Given the description of an element on the screen output the (x, y) to click on. 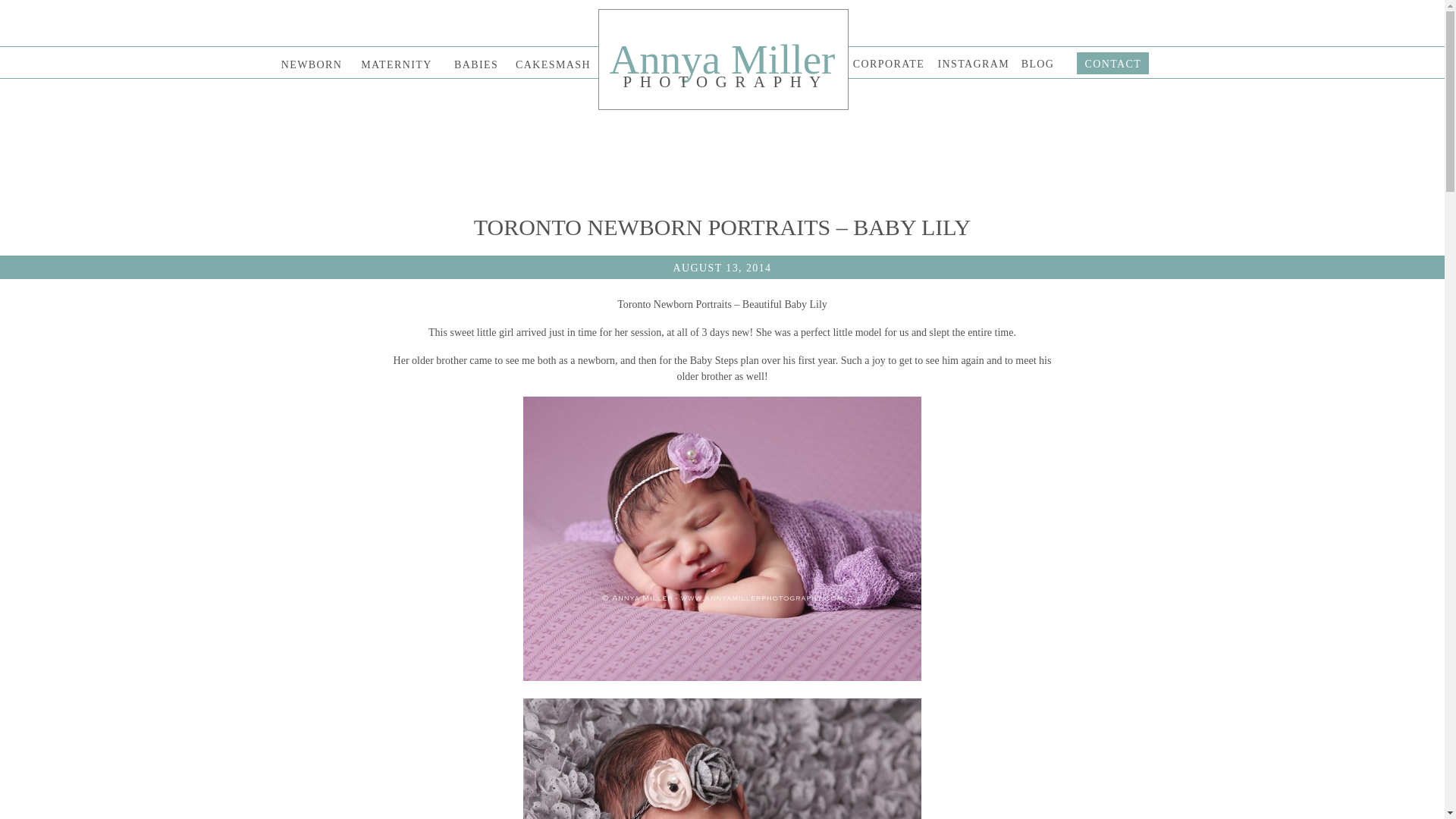
BABIES (476, 64)
INSTAGRAM (970, 63)
CORPORATE (888, 63)
NEWBORN (310, 64)
CAKESMASH (552, 64)
MATERNITY (395, 64)
BLOG (1037, 63)
CONTACT (1109, 63)
Annya Miller (722, 60)
